Given the description of an element on the screen output the (x, y) to click on. 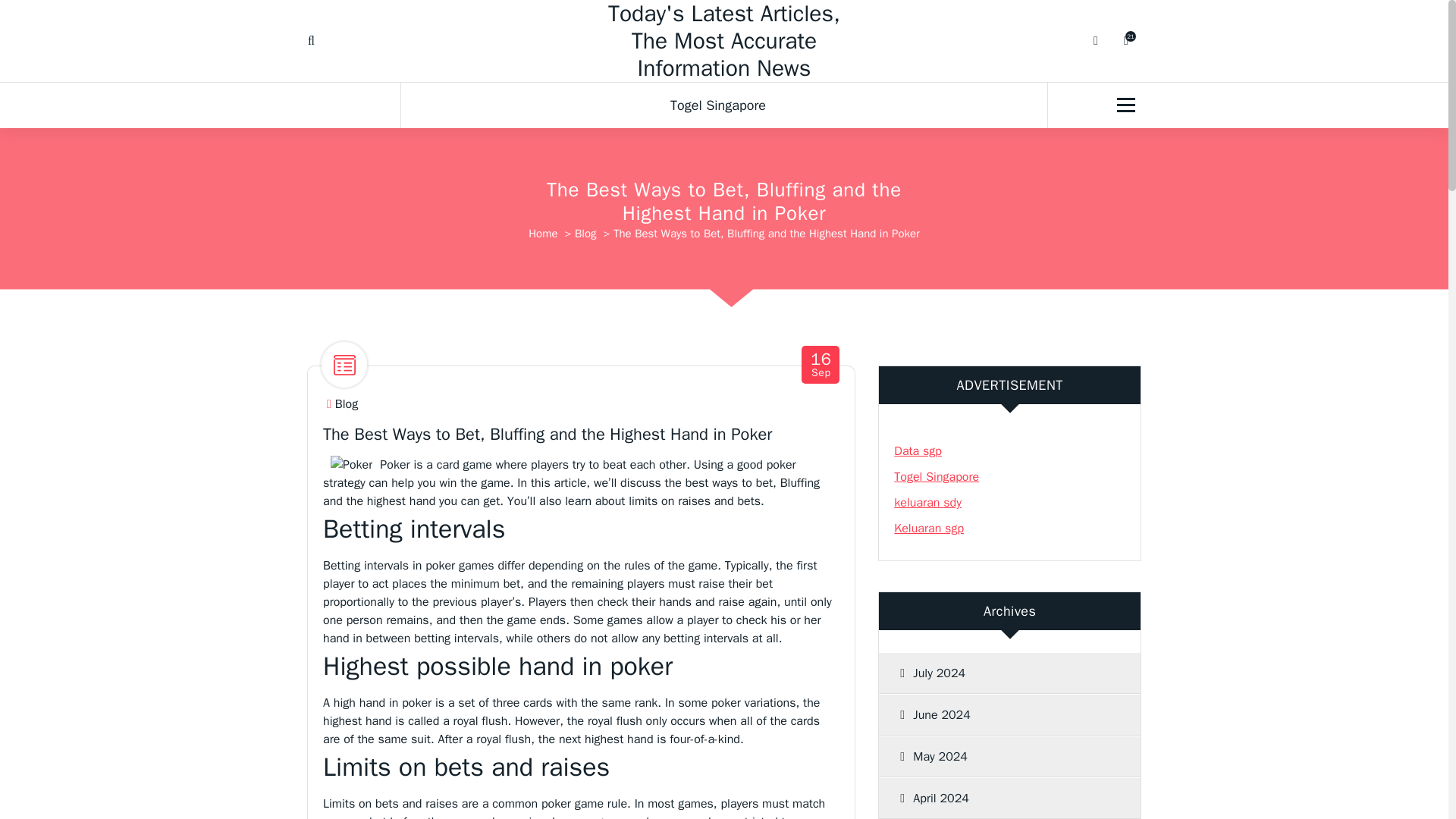
keluaran sdy (926, 502)
Home (542, 233)
Blog (585, 233)
Blog (346, 404)
Data sgp (820, 365)
Togel Singapore (917, 450)
Togel Singapore (723, 104)
Togel Singapore (935, 476)
June 2024 (723, 104)
Keluaran sgp (1004, 714)
July 2024 (928, 528)
Today's Latest Articles, The Most Accurate Information News (1004, 672)
April 2024 (724, 40)
2104 (1004, 798)
